Given the description of an element on the screen output the (x, y) to click on. 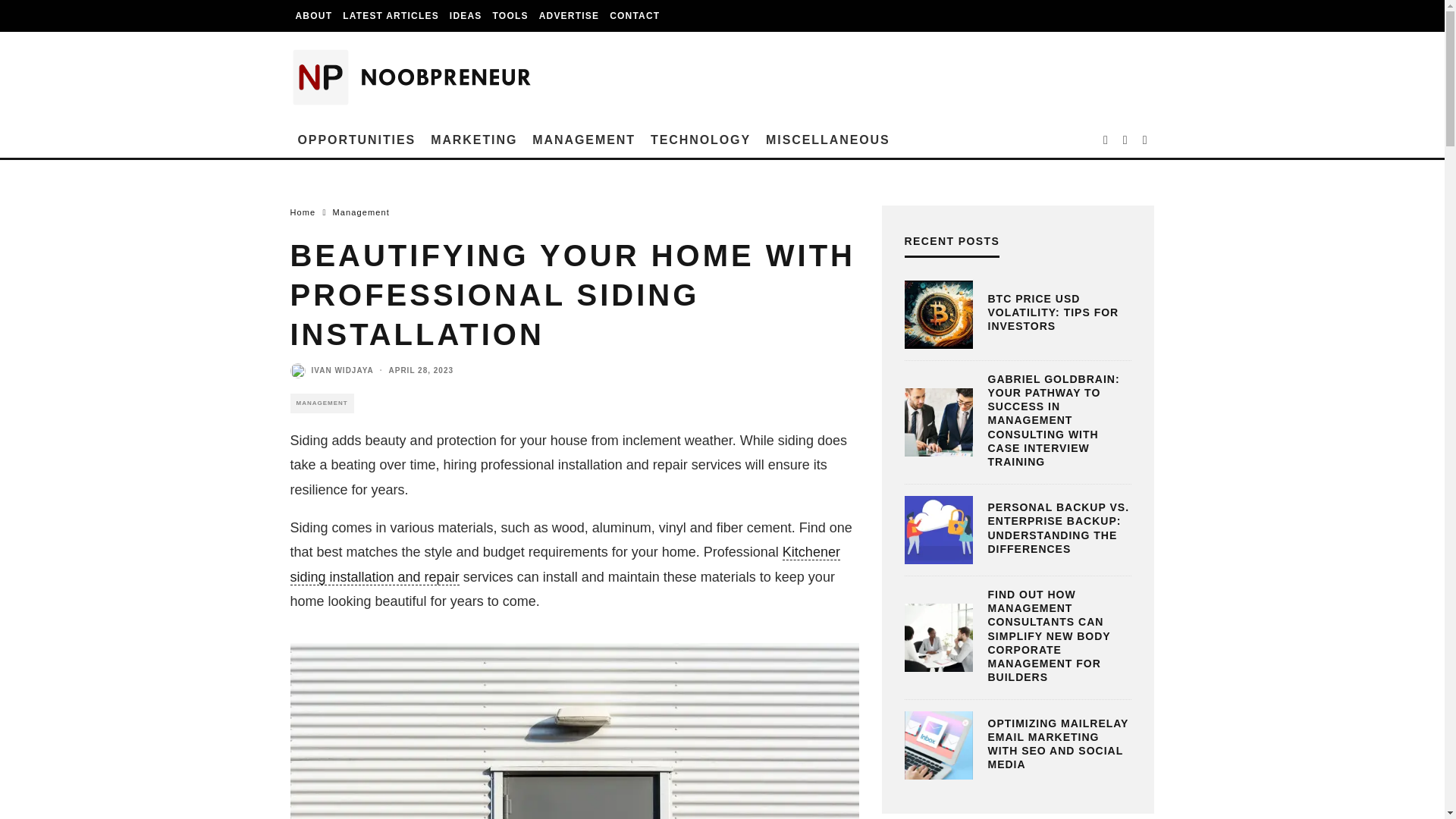
ABOUT (313, 15)
Business Management (583, 140)
OPPORTUNITIES (356, 140)
ADVERTISE (569, 15)
Business Opportunities (356, 140)
LATEST ARTICLES (390, 15)
Business Marketing (473, 140)
IDEAS (465, 15)
Small Business Ideas (465, 15)
TOOLS (510, 15)
MARKETING (473, 140)
Small Business Apps (510, 15)
Information Technology (700, 140)
MANAGEMENT (583, 140)
CONTACT (634, 15)
